Given the description of an element on the screen output the (x, y) to click on. 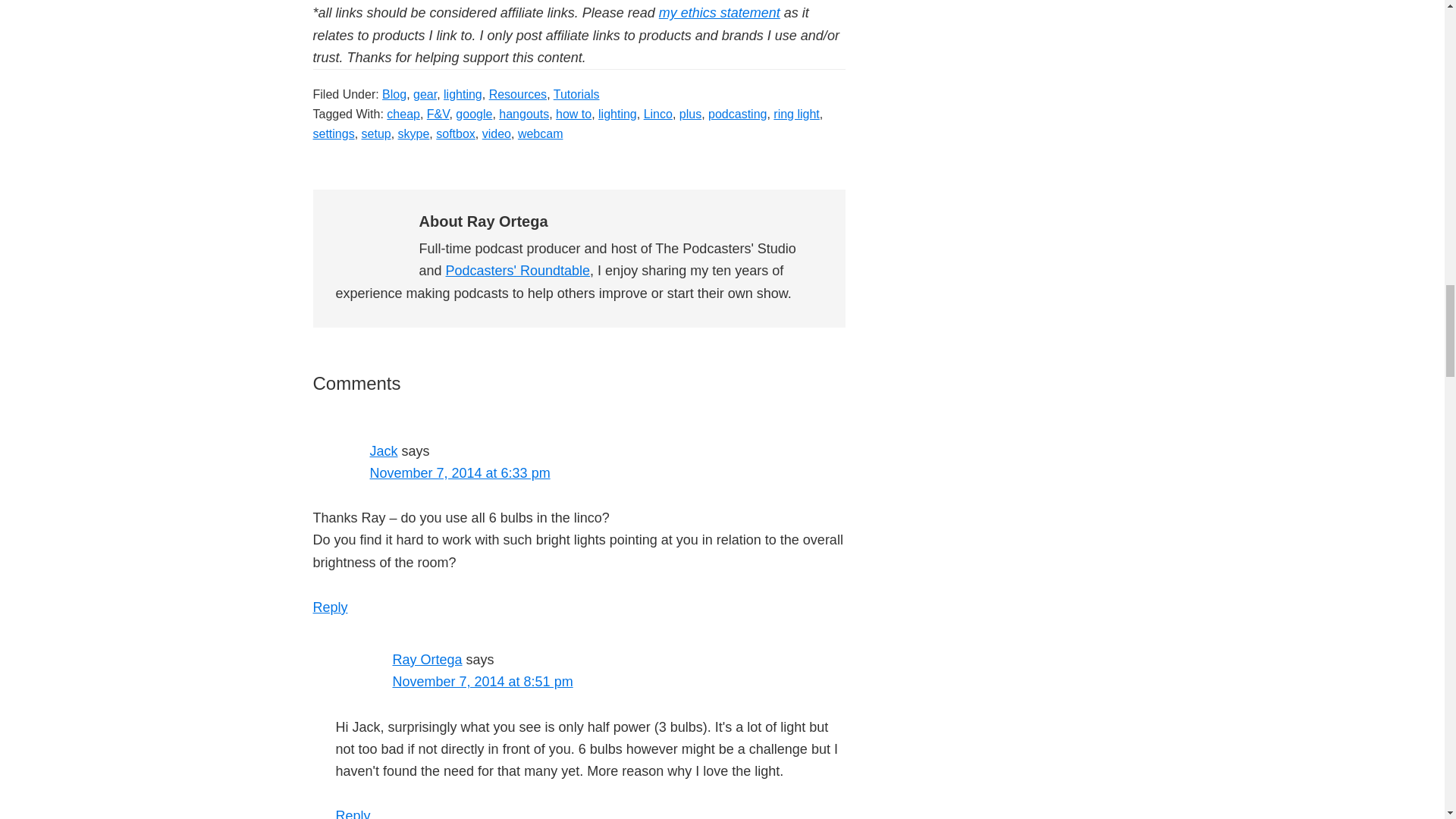
Blog (393, 93)
gear (424, 93)
Resources (518, 93)
lighting (462, 93)
my ethics statement (719, 12)
cheap (403, 113)
Tutorials (576, 93)
TPS ethics statement (719, 12)
Podcasters' Roundtable website (518, 270)
